Given the description of an element on the screen output the (x, y) to click on. 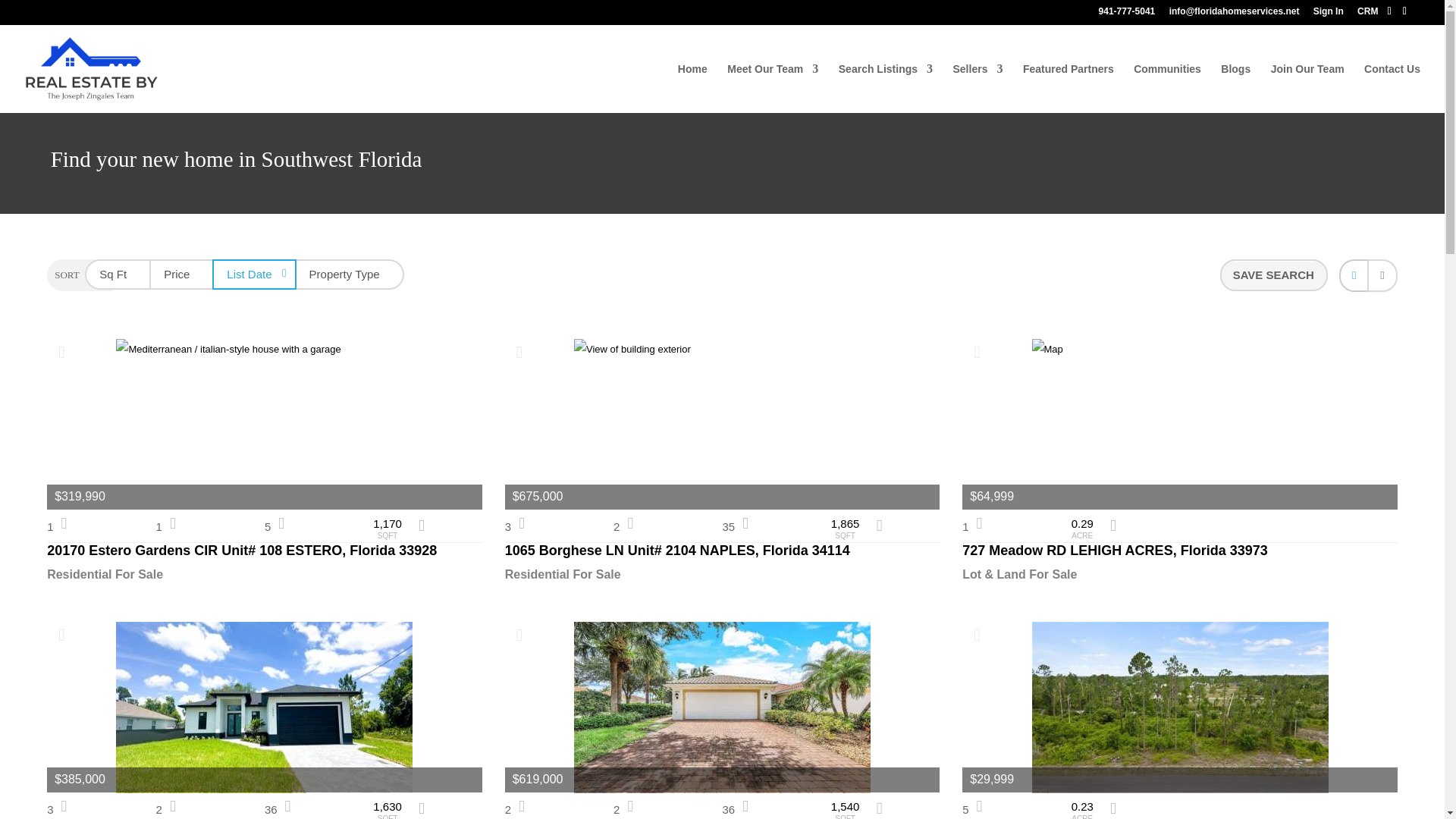
CRM (1366, 14)
Residential For Sale (722, 574)
Contact Us (1392, 88)
Meet Our Team (772, 88)
Featured Partners (1068, 88)
Residential For Sale (263, 574)
Communities (1167, 88)
Sign In (1328, 14)
Join Our Team (1307, 88)
Search Listings (885, 88)
941-777-5041 (1127, 14)
Sellers (977, 88)
